Given the description of an element on the screen output the (x, y) to click on. 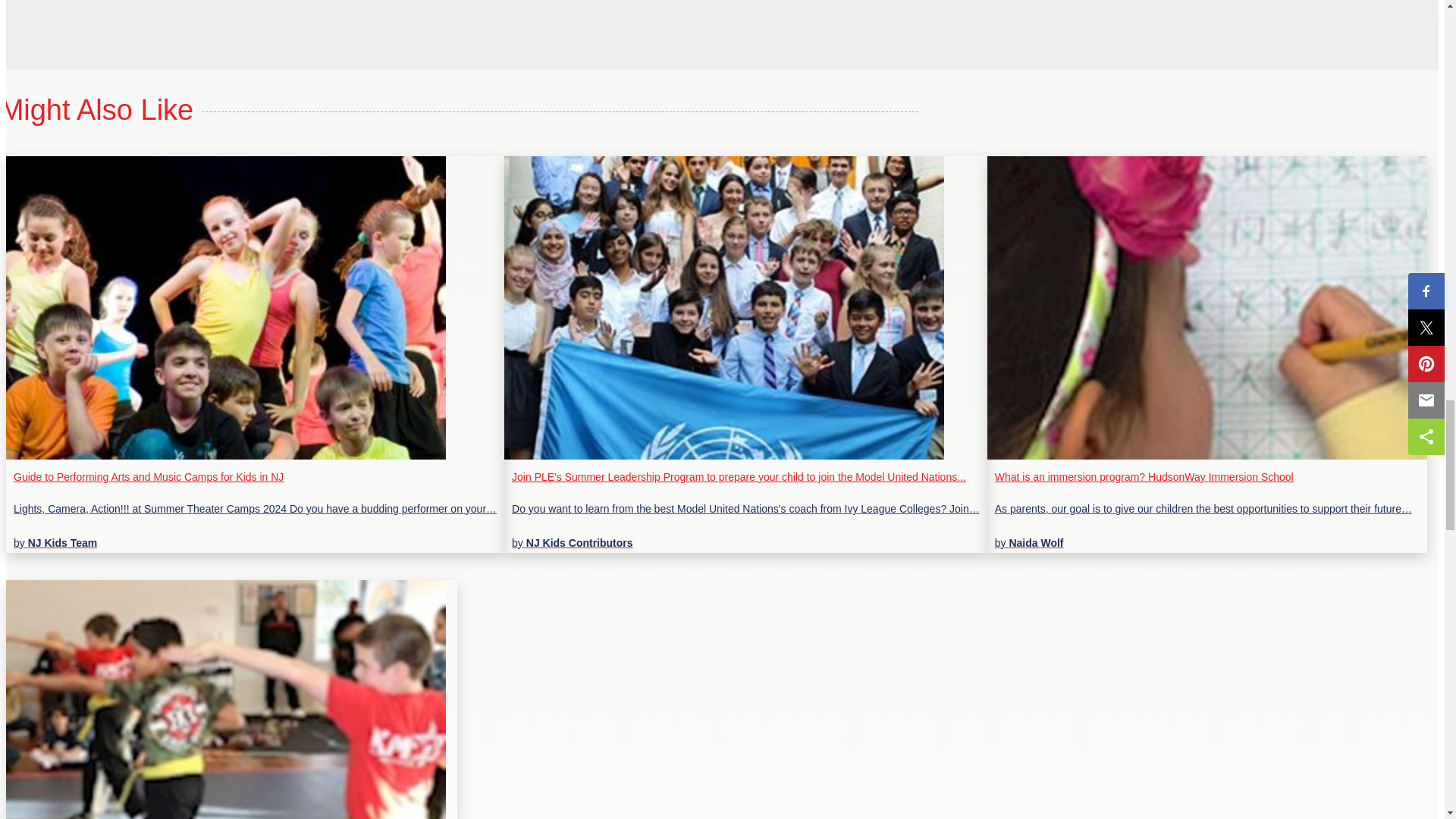
3rd party ad content (118, 12)
